Given the description of an element on the screen output the (x, y) to click on. 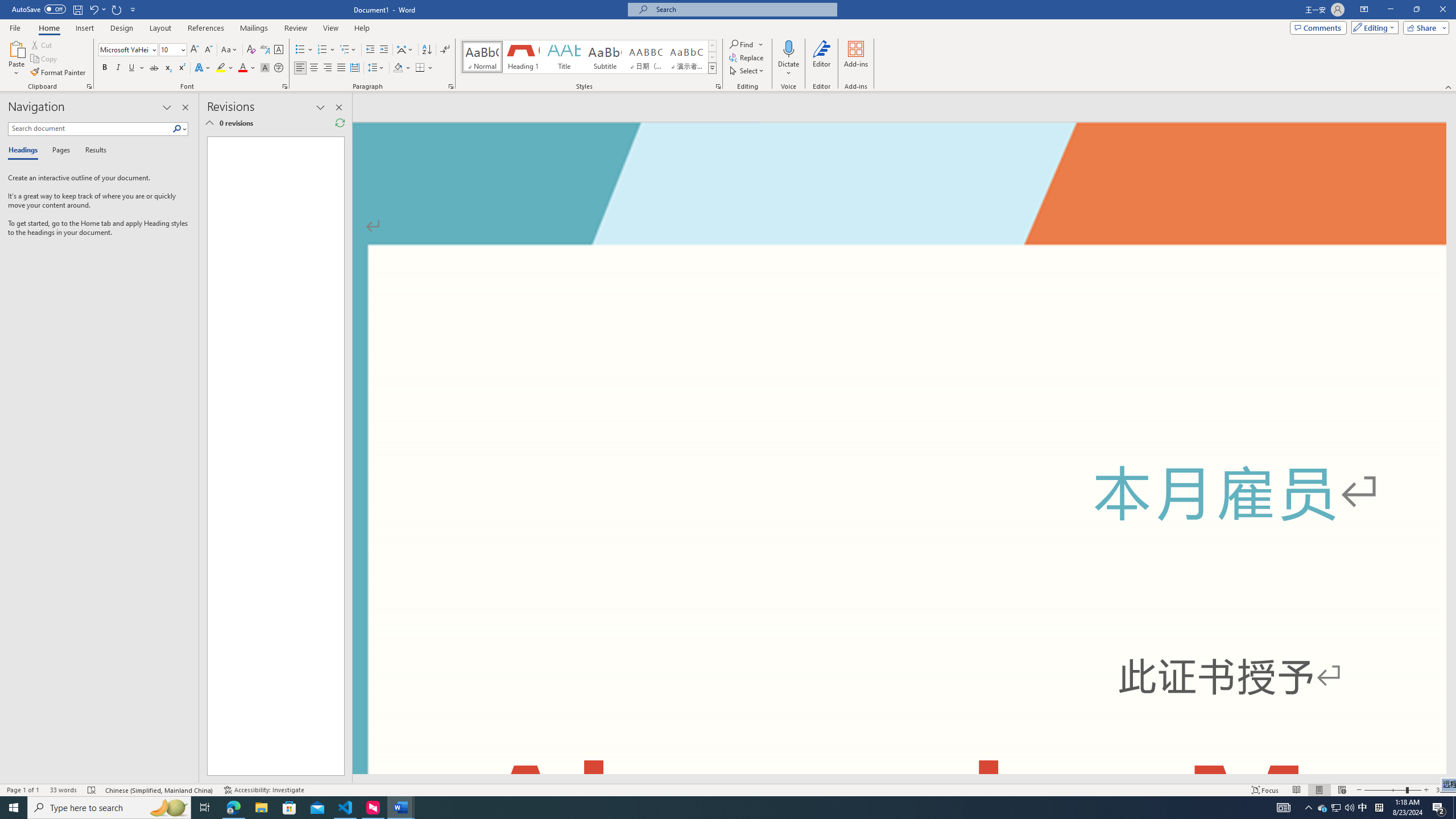
Can't Repeat (117, 9)
Page Number Page 1 of 1 (22, 790)
